Given the description of an element on the screen output the (x, y) to click on. 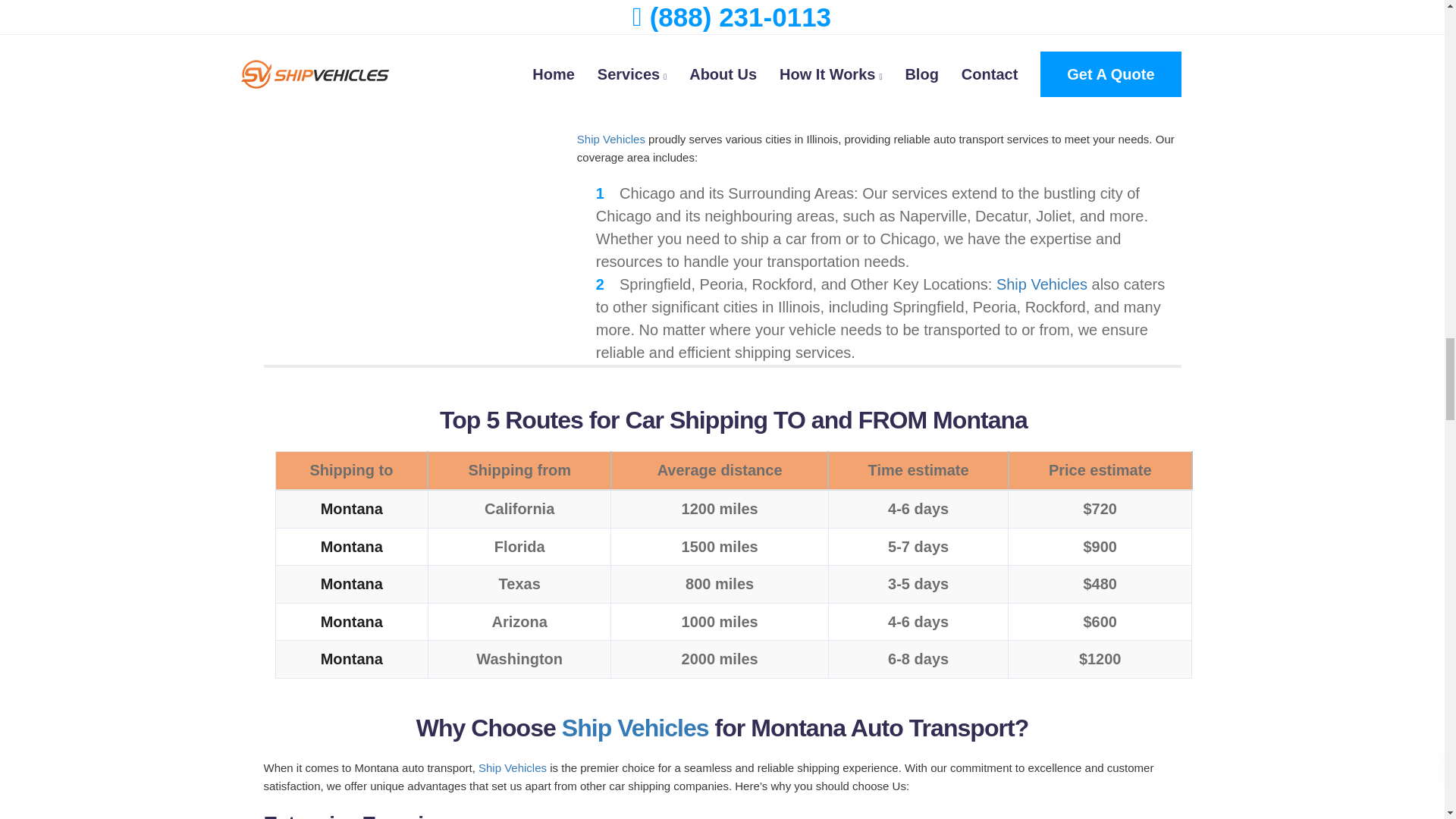
Ship Vehicles (610, 138)
Ship Vehicles (635, 728)
Ship Vehicles (1041, 284)
